Given the description of an element on the screen output the (x, y) to click on. 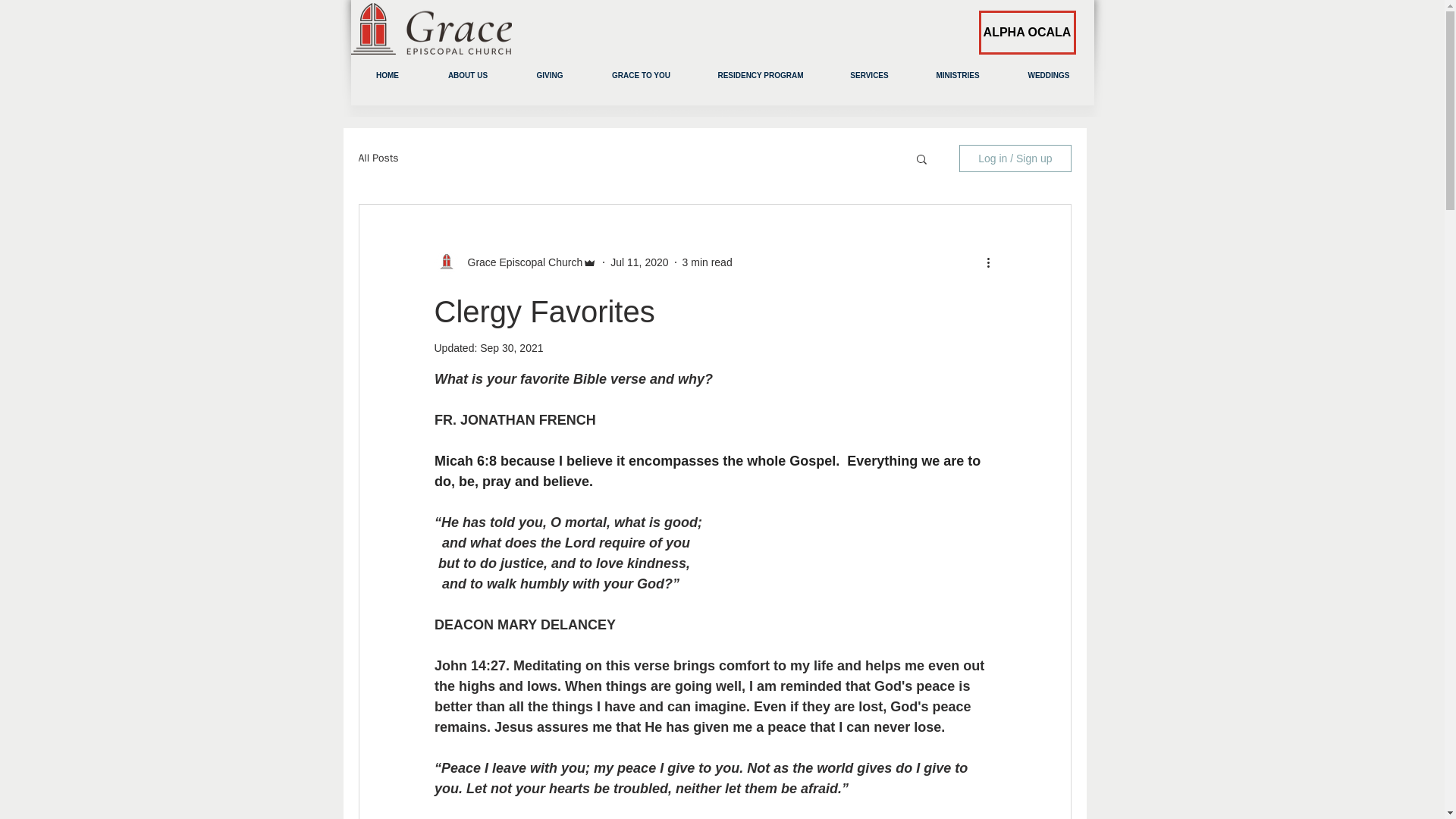
ALPHA OCALA (1026, 32)
3 min read (707, 262)
GRACE TO YOU (641, 74)
ABOUT US (468, 74)
All Posts (377, 158)
HOME (386, 74)
GIVING (549, 74)
SERVICES (869, 74)
Jul 11, 2020 (639, 262)
WEDDINGS (1049, 74)
